Given the description of an element on the screen output the (x, y) to click on. 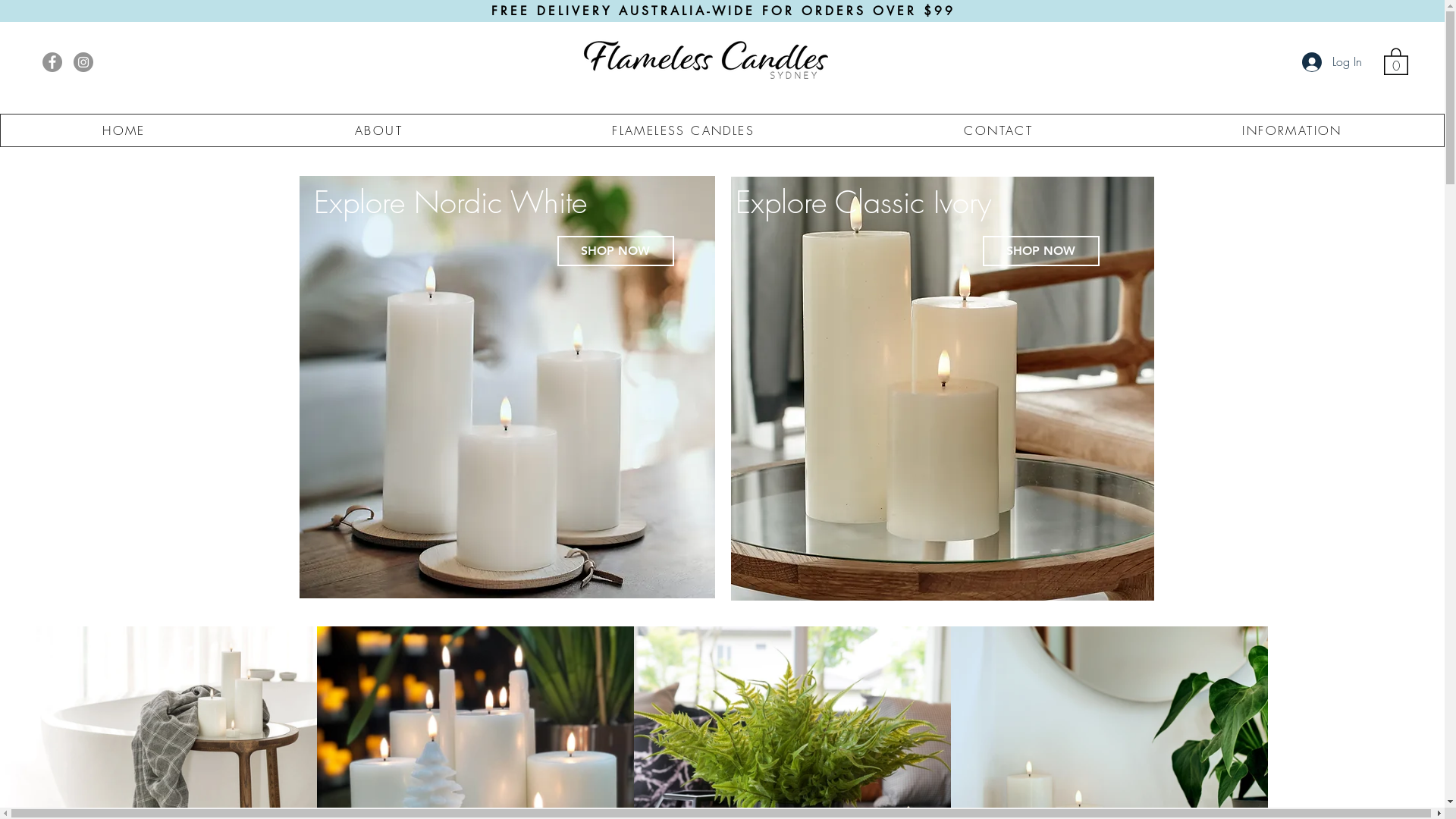
HOME Element type: text (123, 130)
CONTACT Element type: text (998, 130)
SHOP NOW Element type: text (614, 250)
0 Element type: text (1395, 60)
SHOP NOW Element type: text (1040, 250)
FLAMELESS CANDLES Element type: text (683, 130)
Log In Element type: text (1331, 61)
